Given the description of an element on the screen output the (x, y) to click on. 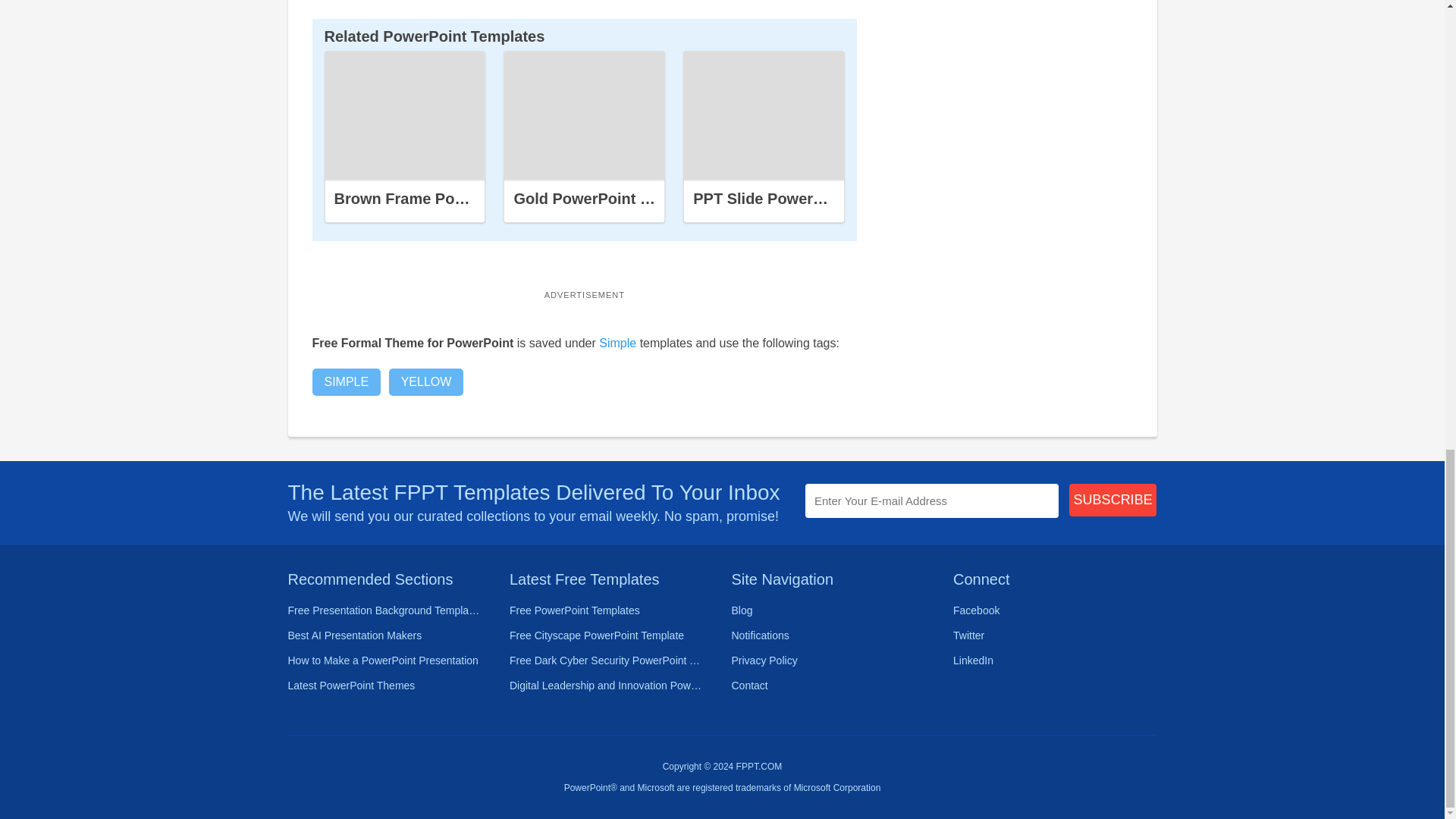
PPT Slide PowerPoint (764, 115)
YELLOW (426, 381)
PPT Slide PowerPoint (771, 198)
SIMPLE (347, 381)
Brown Frame PowerPoint (404, 115)
PPT Slide PowerPoint (763, 115)
Brown Frame PowerPoint (405, 115)
Brown Frame PowerPoint (425, 198)
Simple (617, 342)
Gold PowerPoint Template (584, 115)
Gold PowerPoint Template (583, 115)
Subscribe (1112, 500)
Gold PowerPoint Template (608, 198)
